Given the description of an element on the screen output the (x, y) to click on. 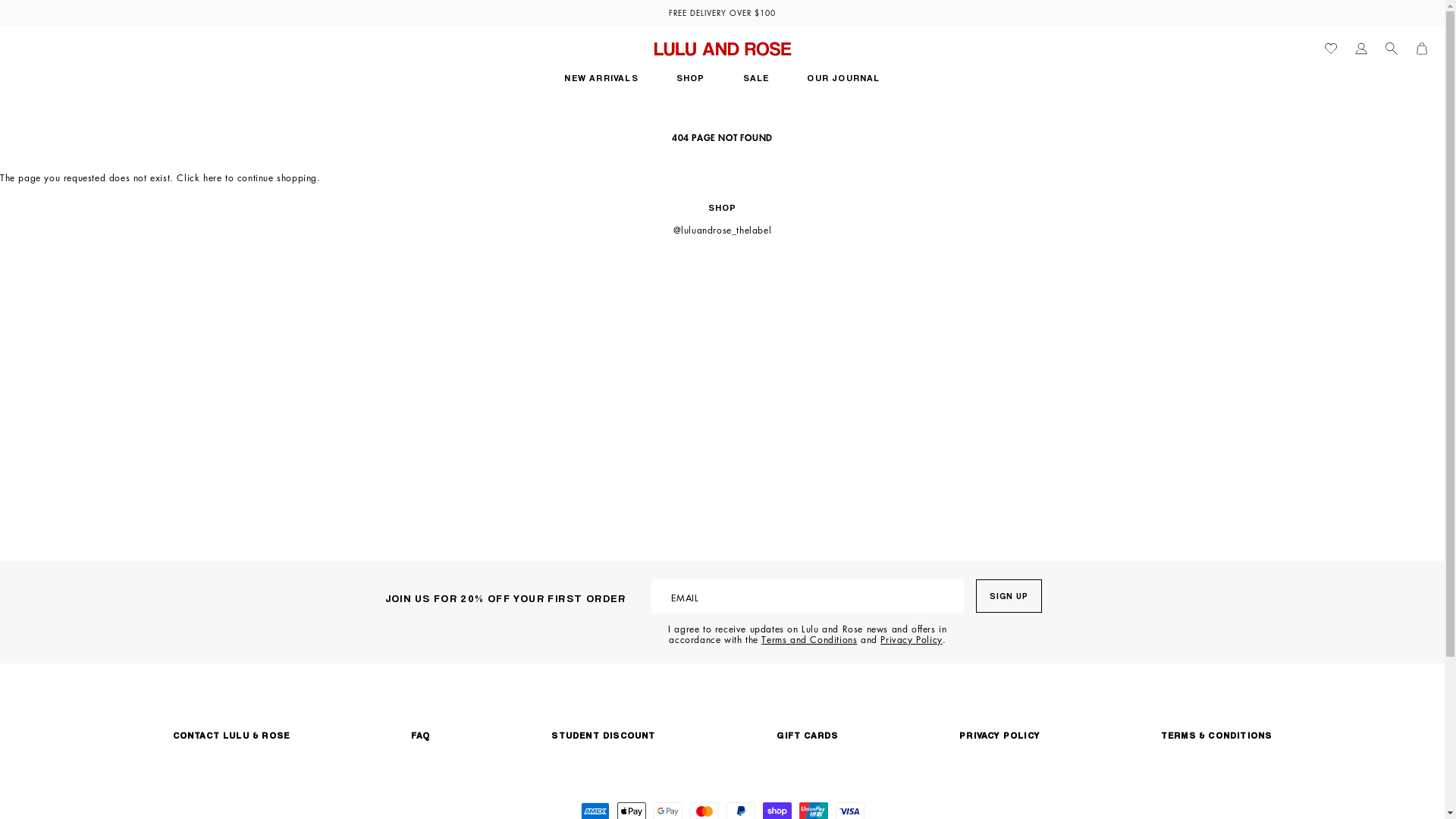
here Element type: text (212, 177)
NEW ARRIVALS Element type: text (600, 62)
TERMS & CONDITIONS Element type: text (1216, 735)
FAQ Element type: text (420, 735)
OUR JOURNAL Element type: text (842, 62)
STUDENT DISCOUNT Element type: text (603, 735)
Privacy Policy Element type: text (910, 639)
CONTACT LULU & ROSE Element type: text (231, 735)
SALE Element type: text (756, 62)
Terms and Conditions Element type: text (808, 639)
SHOP Element type: text (690, 62)
GIFT CARDS Element type: text (806, 735)
SIGN UP Element type: text (1008, 595)
PRIVACY POLICY Element type: text (999, 735)
